Given the description of an element on the screen output the (x, y) to click on. 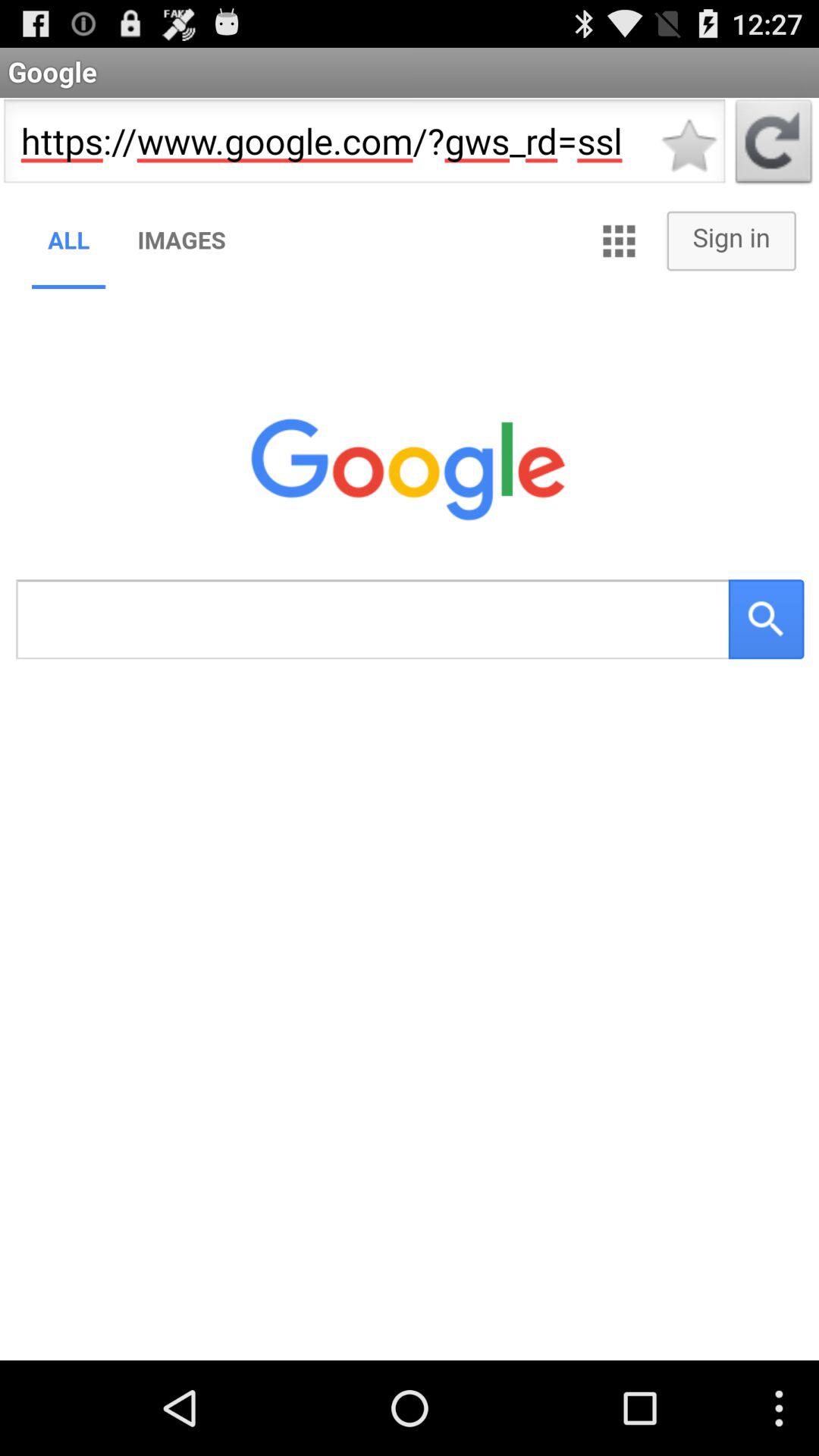
refresh option (774, 145)
